Given the description of an element on the screen output the (x, y) to click on. 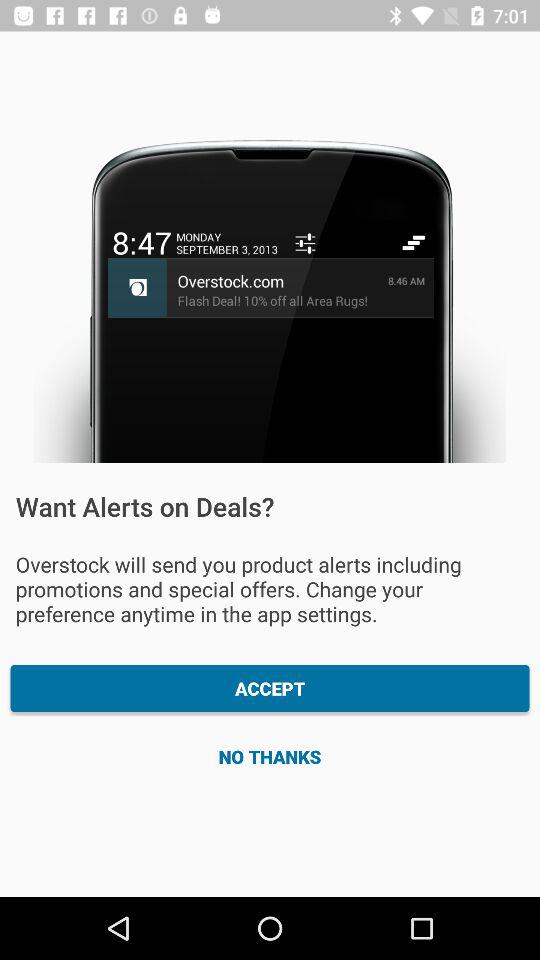
swipe until accept icon (269, 688)
